Given the description of an element on the screen output the (x, y) to click on. 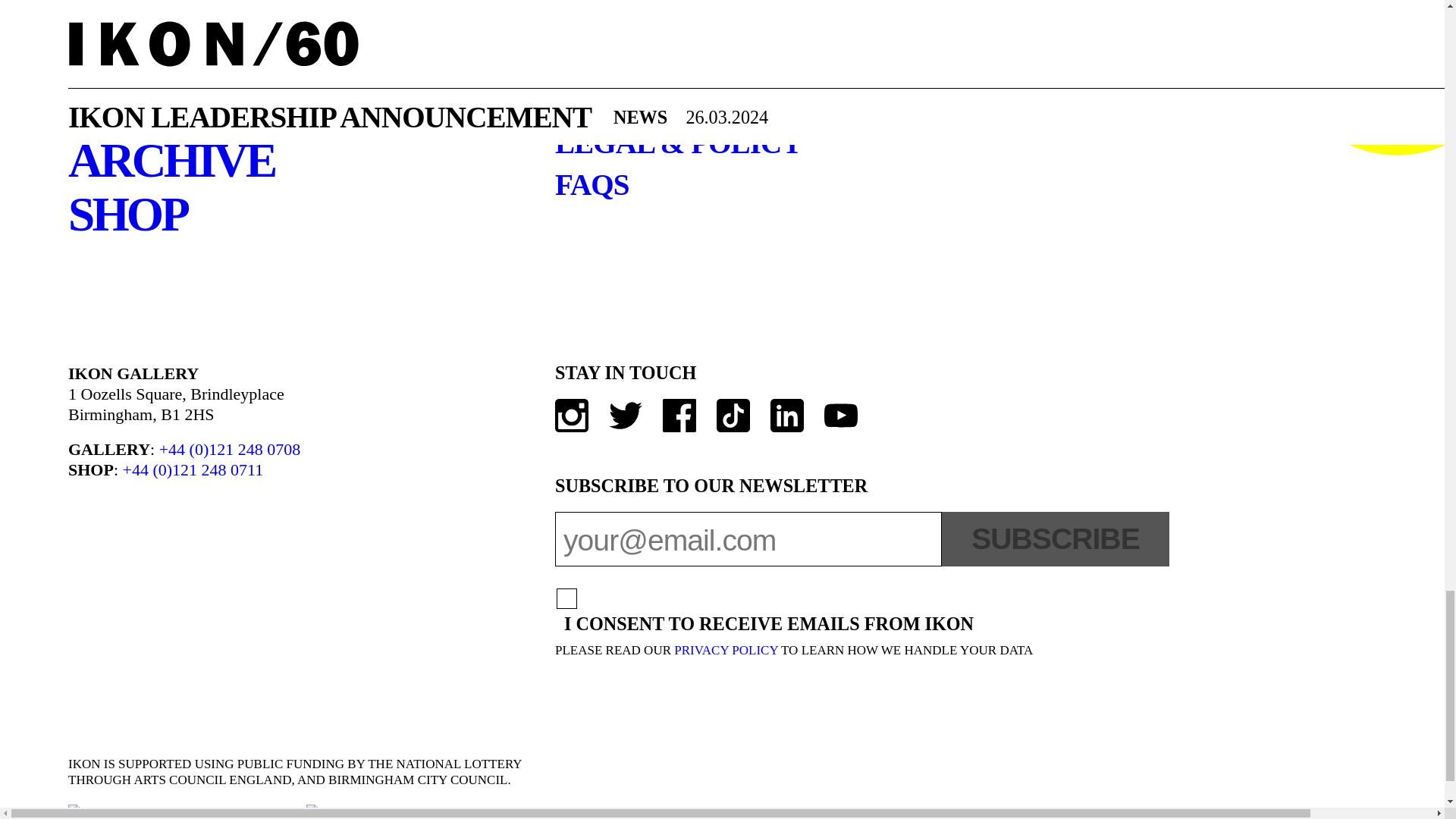
MEDIA (143, 52)
VISIT (126, 11)
Connect with us on LinkedIn (786, 415)
SUPPORT (620, 19)
Follow us on Facebook (678, 415)
Watch our videos on Youtube (840, 415)
PRIVACY POLICY (725, 649)
DONATE (1369, 77)
PRESS (598, 60)
FAQS (591, 184)
SHOP (127, 214)
View our tweets (625, 415)
NEWS (133, 106)
Subscribe to our Instagram feed (571, 415)
SUBSCRIBE (1055, 538)
